Given the description of an element on the screen output the (x, y) to click on. 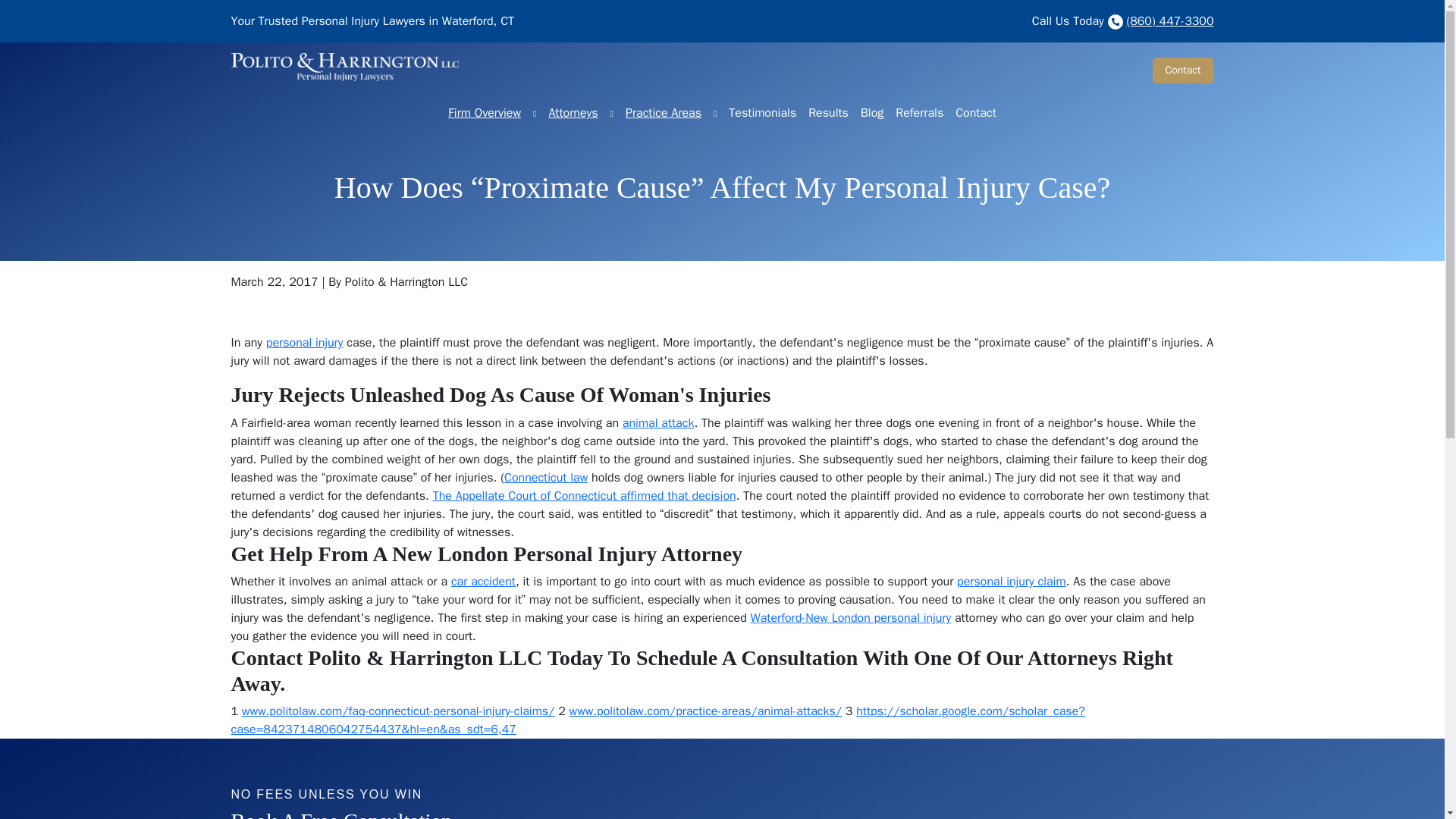
Referrals (919, 112)
Contact (1183, 70)
Results (828, 112)
Attorneys (612, 112)
Testimonials (762, 112)
Firm Overview (484, 112)
Practice Areas (714, 112)
Firm Overview (534, 112)
Practice Areas (663, 112)
Blog (871, 112)
Attorneys (572, 112)
Contact (976, 112)
